Given the description of an element on the screen output the (x, y) to click on. 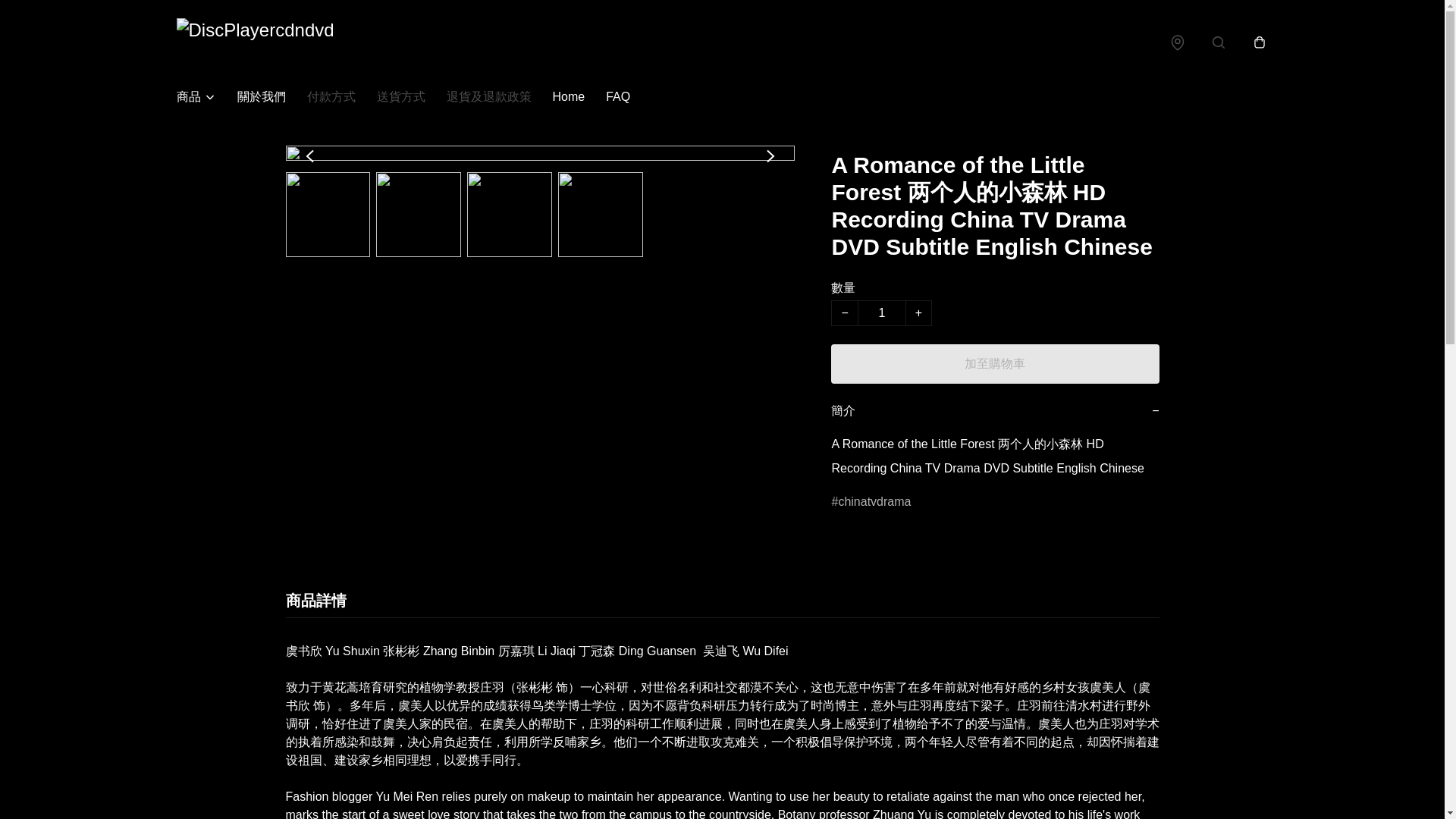
1 (881, 313)
DiscPlayercdndvd (254, 42)
